Given the description of an element on the screen output the (x, y) to click on. 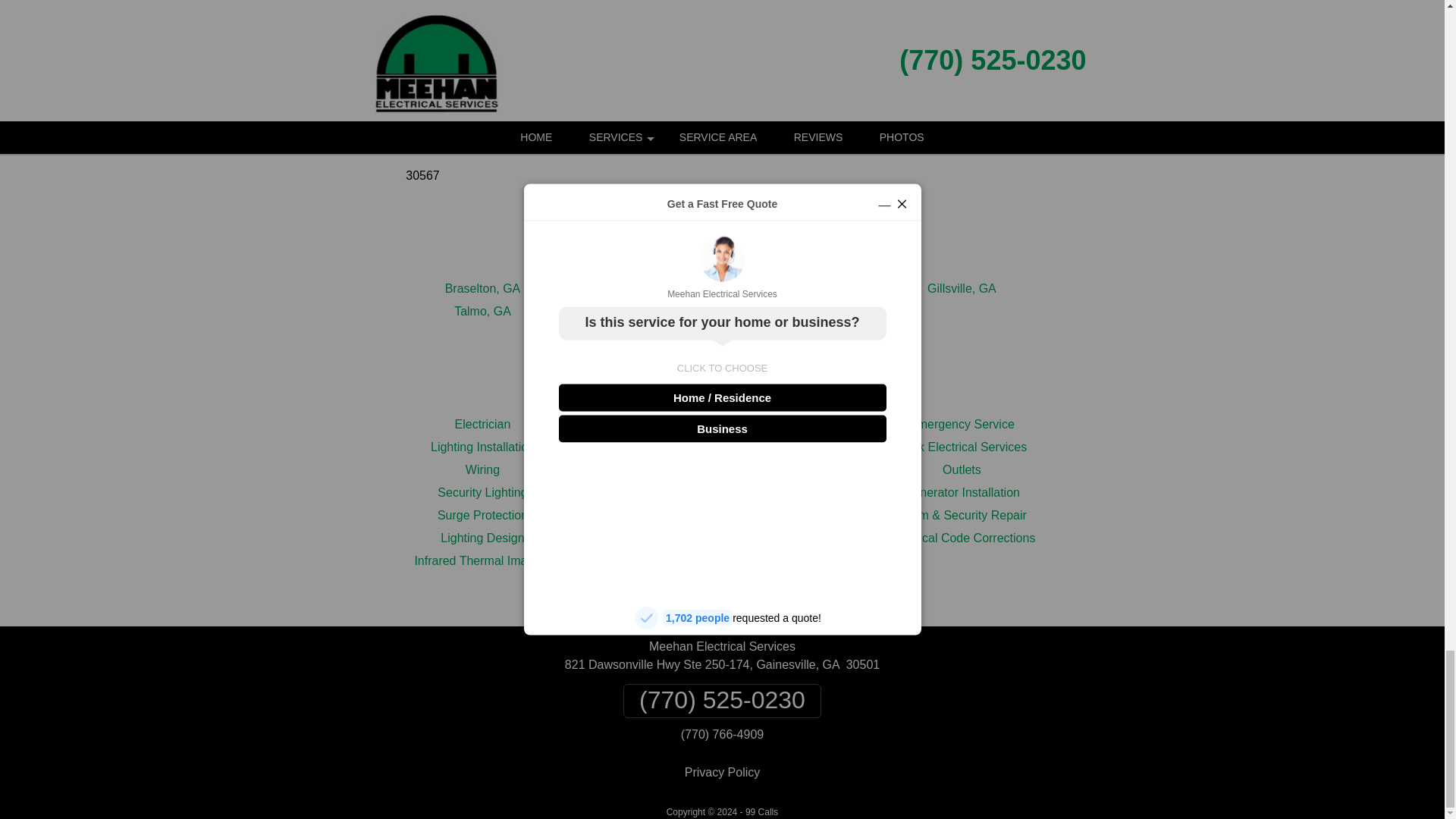
Facebook (638, 44)
Gainesville, GA (720, 287)
Braselton, GA (483, 287)
Houzz (804, 44)
Yelp (749, 44)
Google (694, 44)
